Given the description of an element on the screen output the (x, y) to click on. 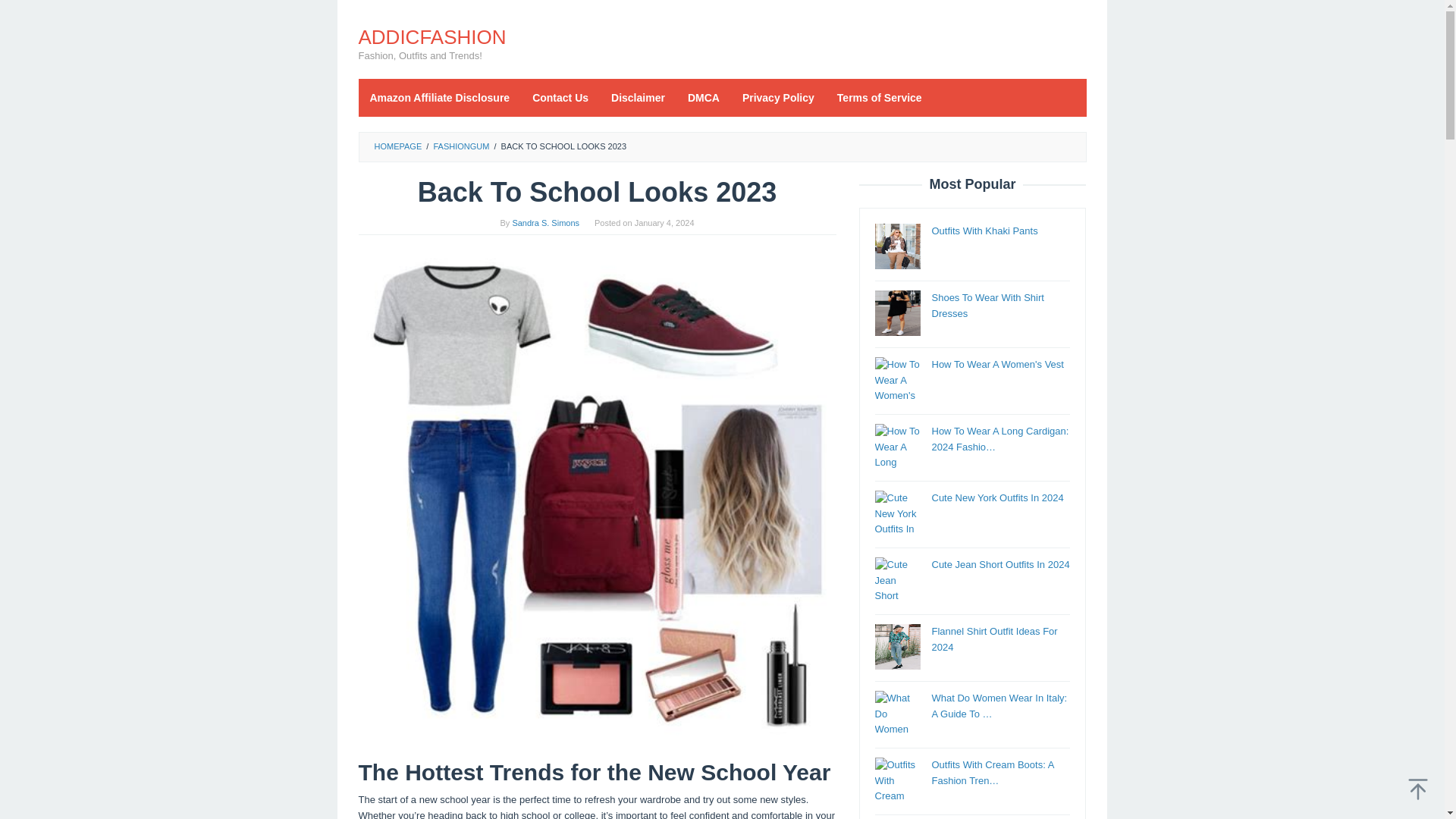
How To Wear A Women's Vest (996, 364)
FASHIONGUM (460, 145)
Cute New York Outfits In 2024 (996, 497)
Privacy Policy (777, 97)
Permalink to: Sandra S. Simons (545, 222)
Terms of Service (879, 97)
Amazon Affiliate Disclosure (439, 97)
Cute Jean Short Outfits In 2024 (999, 564)
Disclaimer (638, 97)
Sandra S. Simons (545, 222)
